Given the description of an element on the screen output the (x, y) to click on. 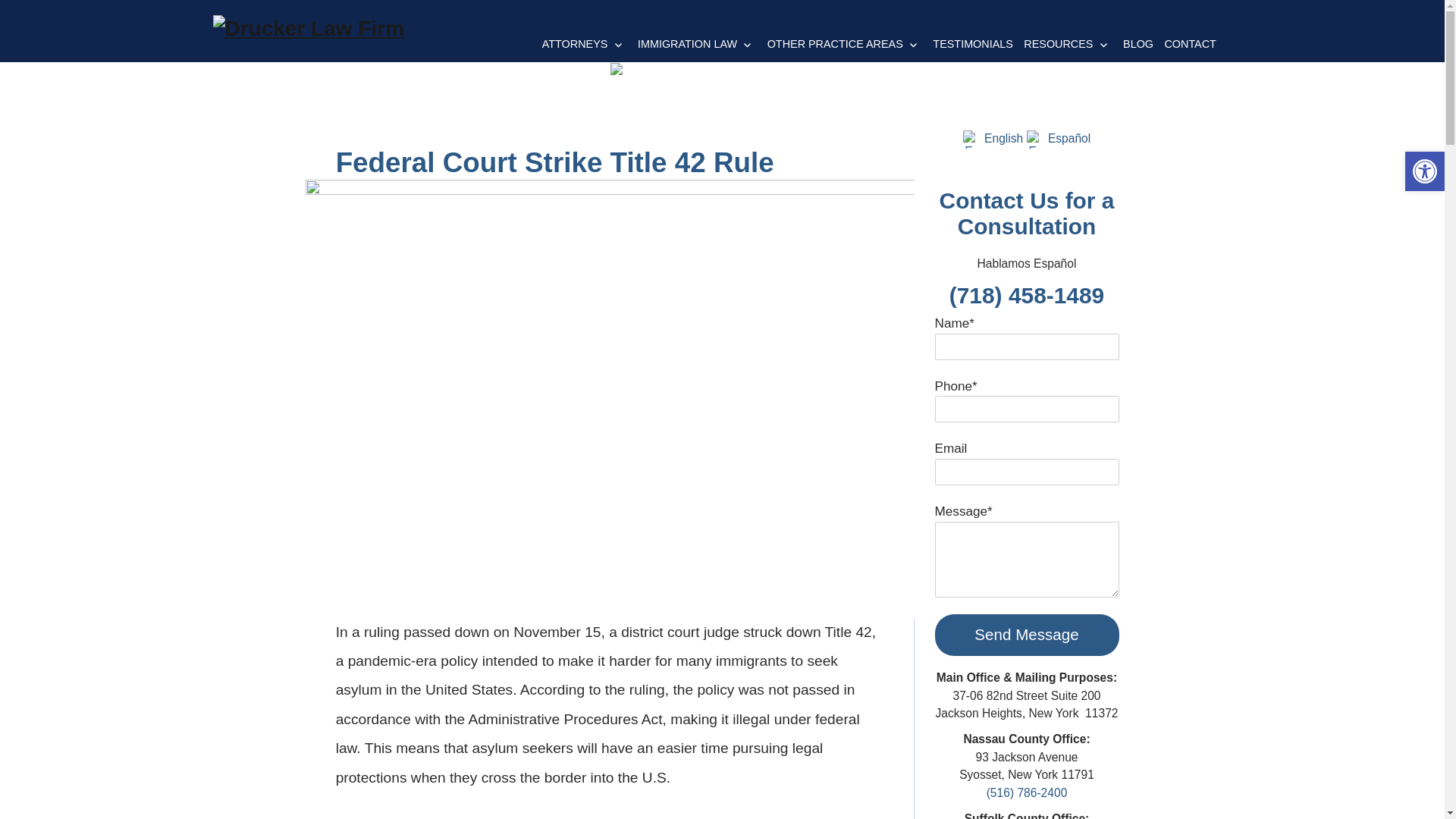
RESOURCES (1067, 37)
ATTORNEYS (584, 37)
Send Message (1026, 635)
CONTACT (1189, 37)
OTHER PRACTICE AREAS (844, 37)
Accessibility Tools (1424, 170)
TESTIMONIALS (972, 37)
IMMIGRATION LAW (696, 37)
